Given the description of an element on the screen output the (x, y) to click on. 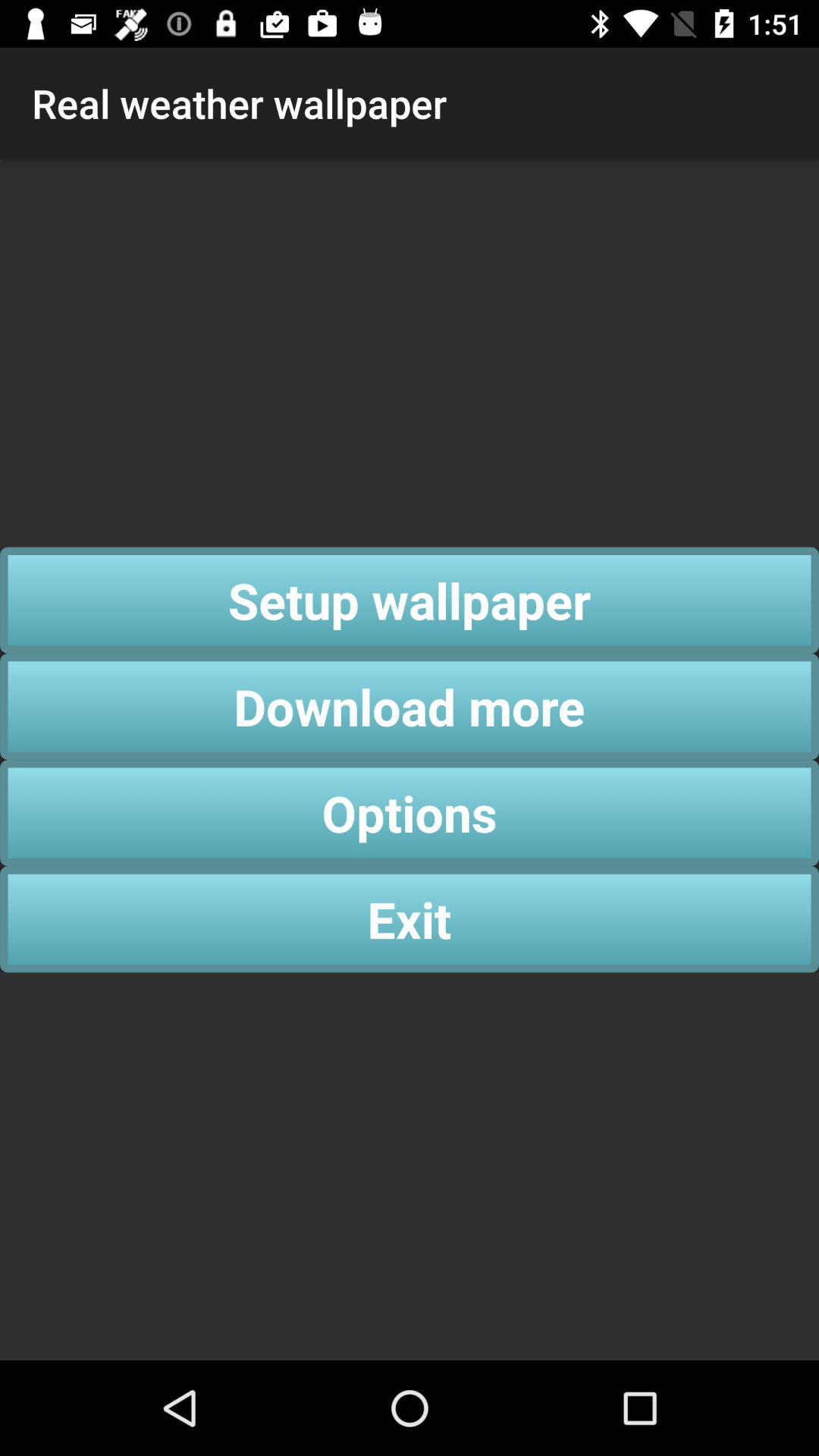
swipe to the download more item (409, 706)
